Given the description of an element on the screen output the (x, y) to click on. 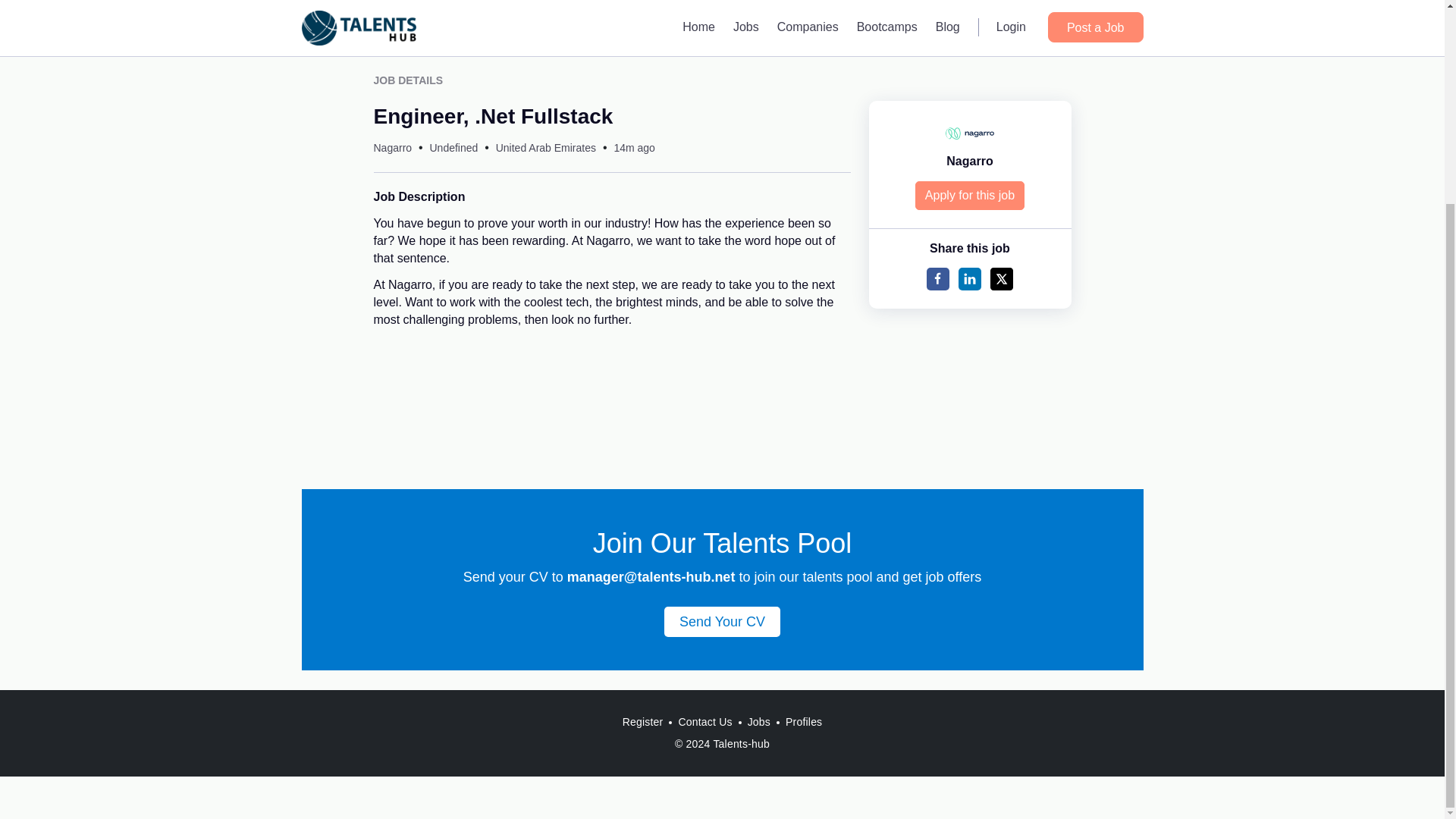
Share to Twitter (1001, 278)
Share to FB (937, 278)
Profiles (803, 722)
Contact Us (704, 722)
United Arab Emirates (545, 147)
Share to Linkedin (969, 278)
Apply for this job (970, 194)
Send Your CV (721, 621)
Undefined (453, 147)
Jobs (758, 722)
Nagarro (392, 147)
Register (642, 722)
Jobs search (721, 40)
Nagarro (969, 160)
